Given the description of an element on the screen output the (x, y) to click on. 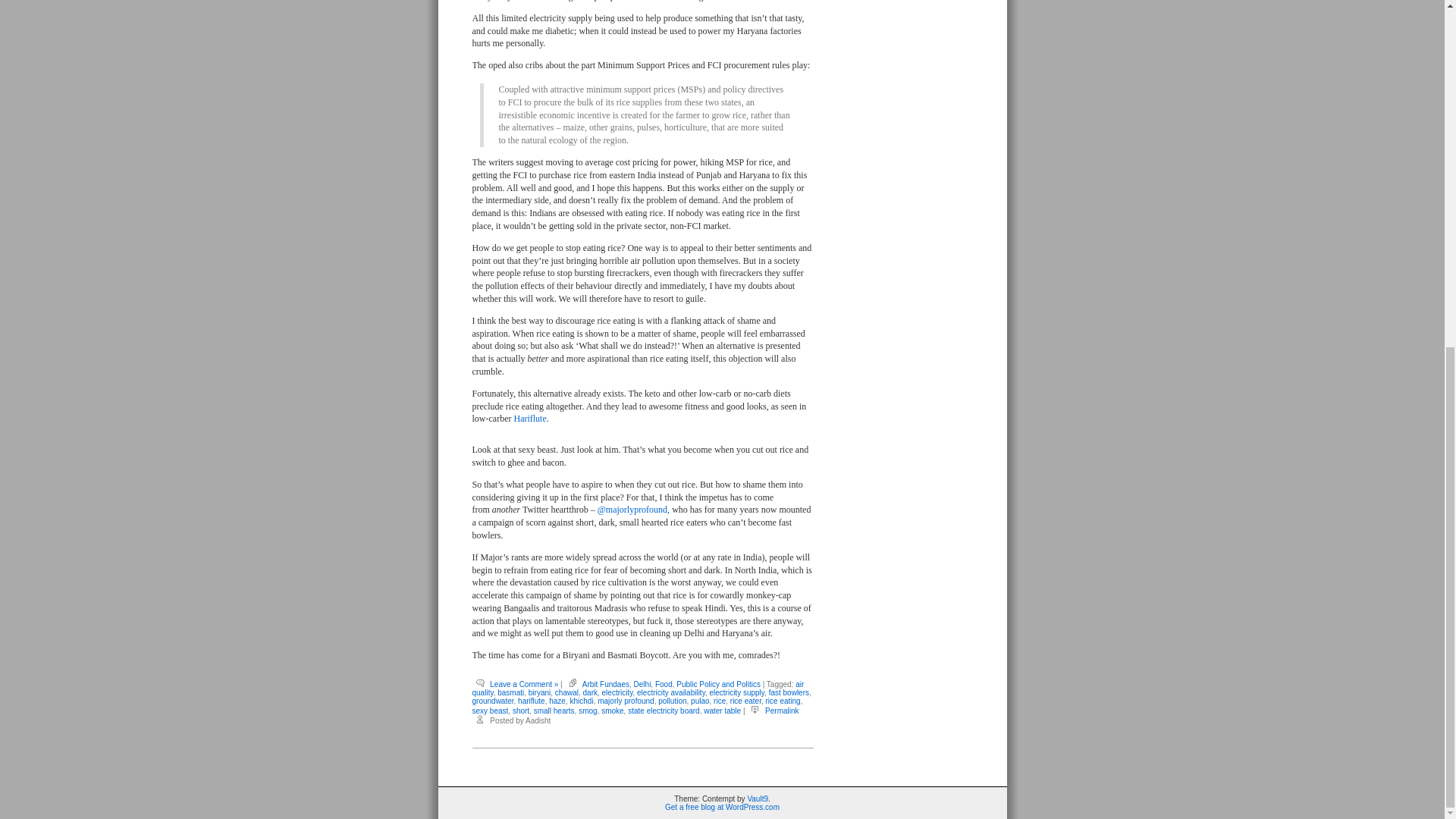
sexy beast (489, 710)
Arbit Fundaes (605, 684)
rice eater (745, 700)
rice eating (782, 700)
basmati (510, 692)
biryani (539, 692)
electricity availability (670, 692)
smoke (612, 710)
pollution (671, 700)
Hariflute (529, 418)
khichdi (582, 700)
Permalink (781, 710)
small hearts (554, 710)
pulao (699, 700)
air quality (637, 688)
